Given the description of an element on the screen output the (x, y) to click on. 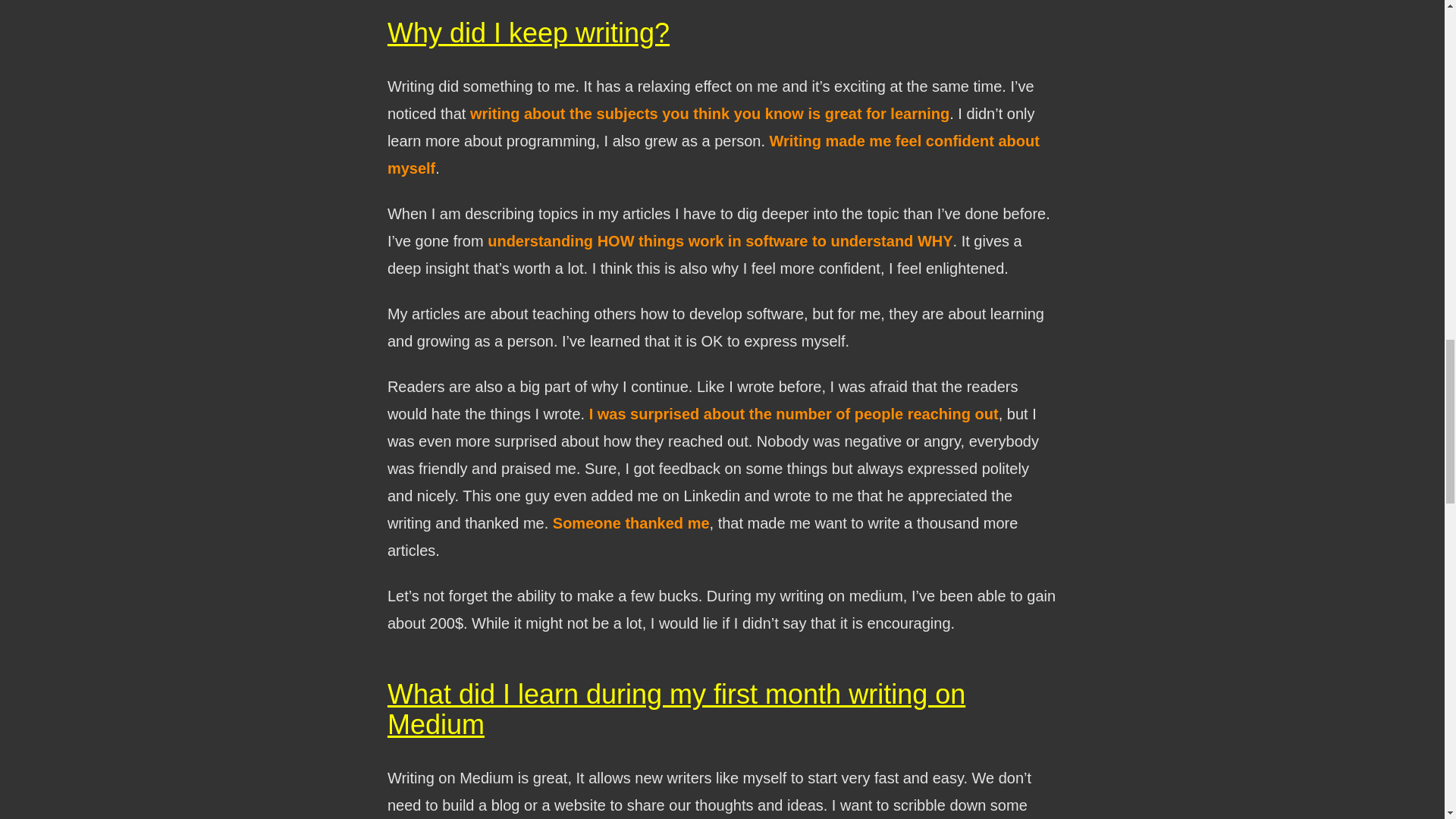
What did I learn during my first month writing on Medium (676, 709)
Why did I keep writing? (528, 32)
